Given the description of an element on the screen output the (x, y) to click on. 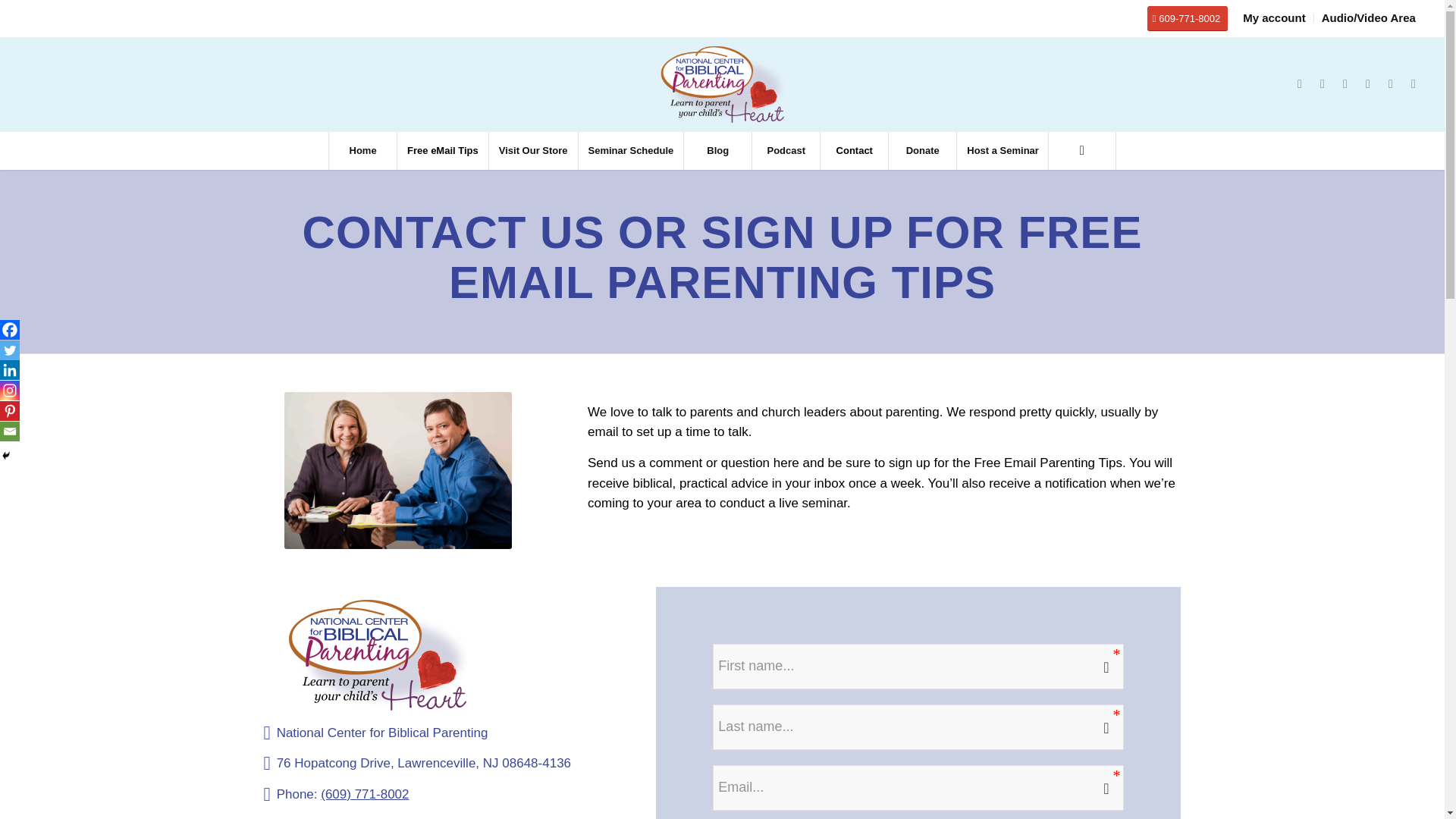
Parenting With Faith (397, 470)
LinkedIn (1344, 83)
Host a Seminar (1002, 150)
Twitter (1322, 83)
Podcast (785, 150)
Youtube (1413, 83)
Visit Our Store (532, 150)
Pinterest (1390, 83)
National Center for Biblical Parenting (377, 655)
Facebook (1299, 83)
Seminar Schedule (631, 150)
Home (362, 150)
609-771-8002 (1187, 18)
Blog (716, 150)
Contact (853, 150)
